Given the description of an element on the screen output the (x, y) to click on. 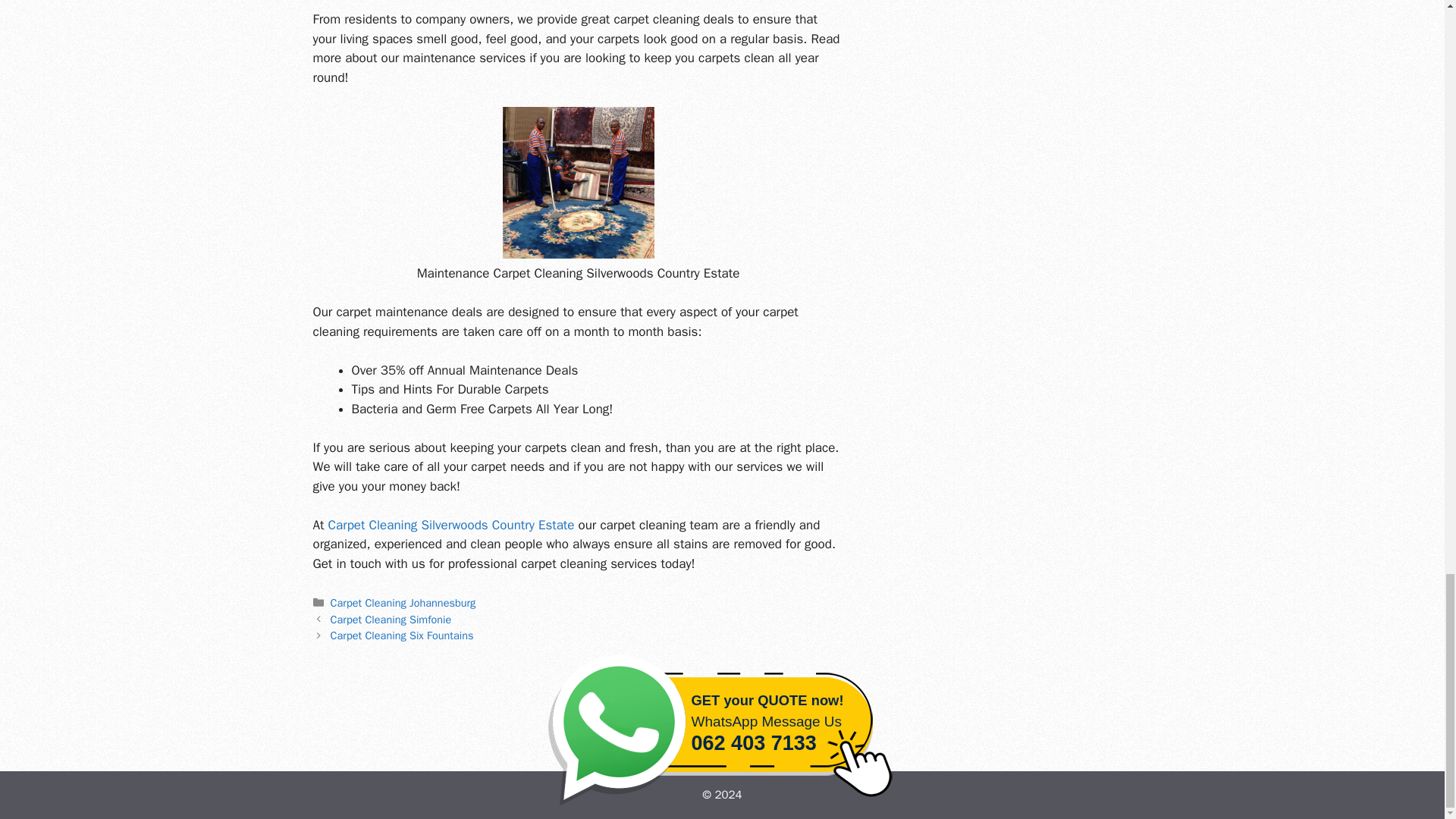
Carpet Cleaning Simfonie (390, 619)
Carpet Cleaning Six Fountains (402, 635)
Carpet Cleaning Silverwoods Country Estate (448, 524)
Carpet Cleaning Johannesburg (403, 602)
Next (402, 635)
Previous (390, 619)
